Given the description of an element on the screen output the (x, y) to click on. 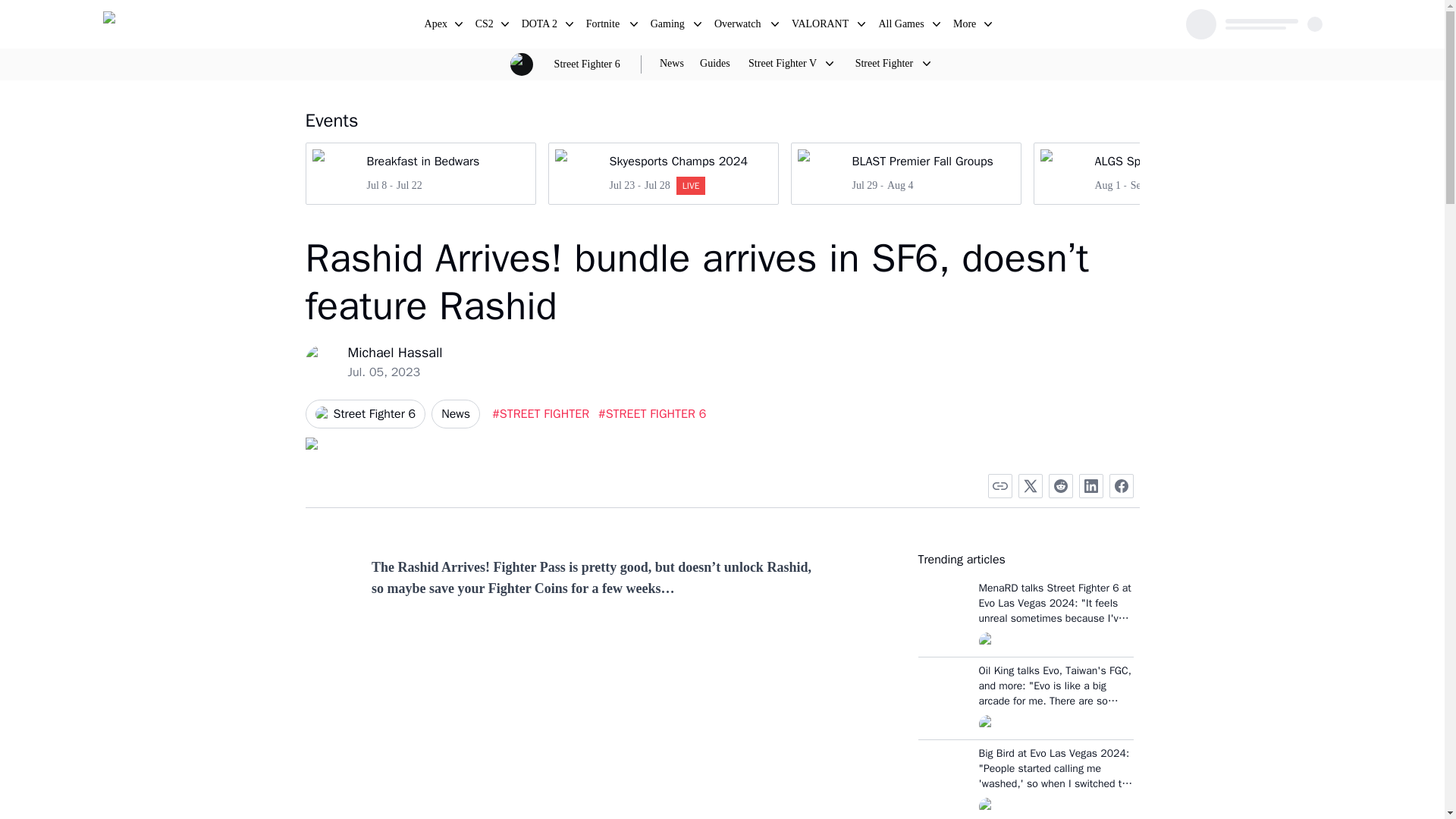
All Games (901, 25)
VALORANT (821, 25)
News (671, 64)
Street Fighter V (781, 63)
DOTA 2 (662, 173)
CS2 (540, 25)
Fortnite (419, 173)
Apex (485, 25)
Street Fighter 6 (604, 25)
Street Fighter 6 (436, 25)
News (364, 413)
Street Fighter 6 (905, 173)
